Given the description of an element on the screen output the (x, y) to click on. 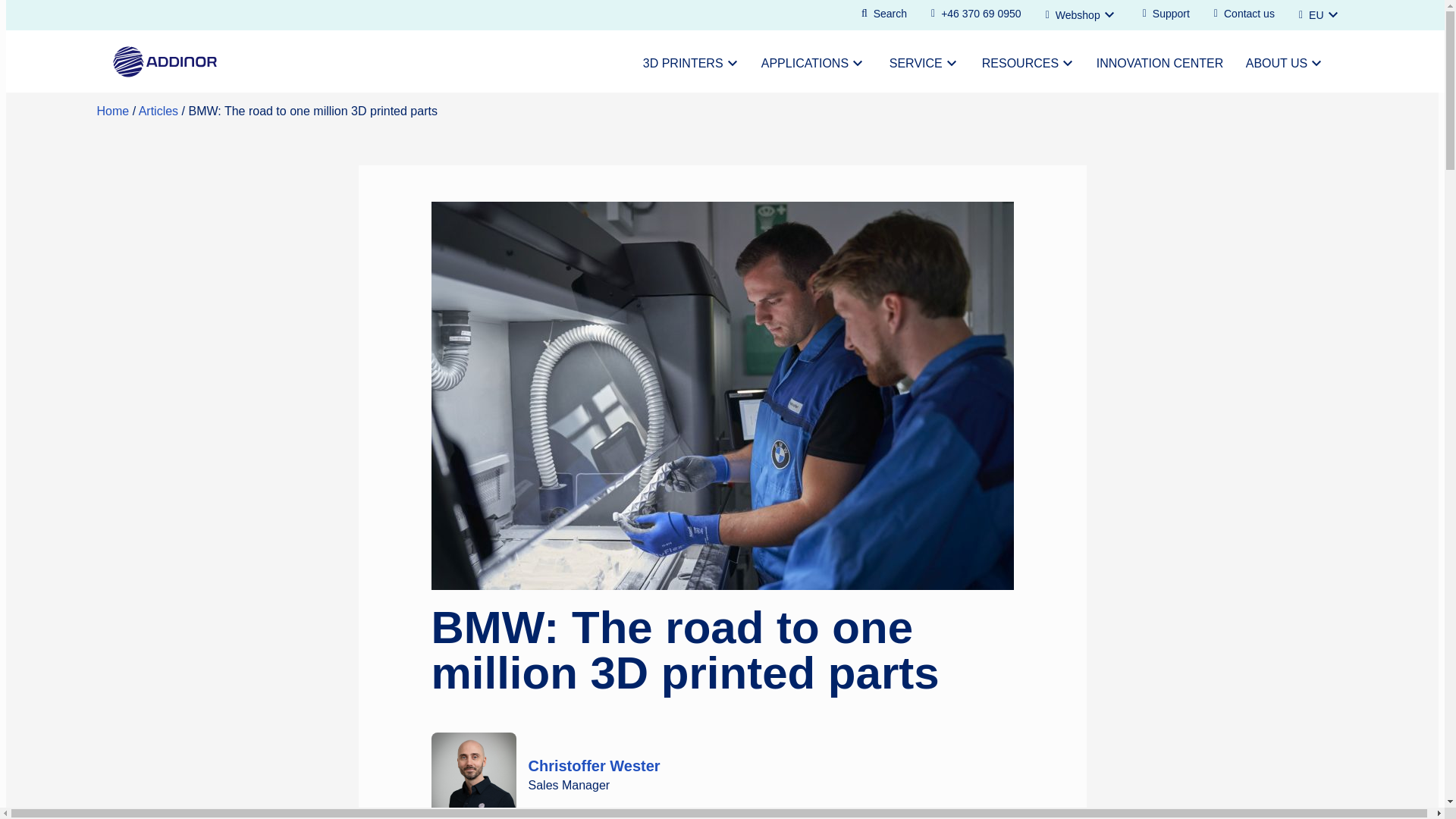
RESOURCES (1026, 63)
EU (1320, 15)
Search (883, 13)
INNOVATION CENTER (1158, 63)
Articles (157, 110)
APPLICATIONS (813, 63)
SERVICE (923, 63)
Contact us (1244, 13)
Support (1166, 13)
3D PRINTERS (689, 63)
Webshop (1082, 15)
Addinor EU (113, 110)
